Given the description of an element on the screen output the (x, y) to click on. 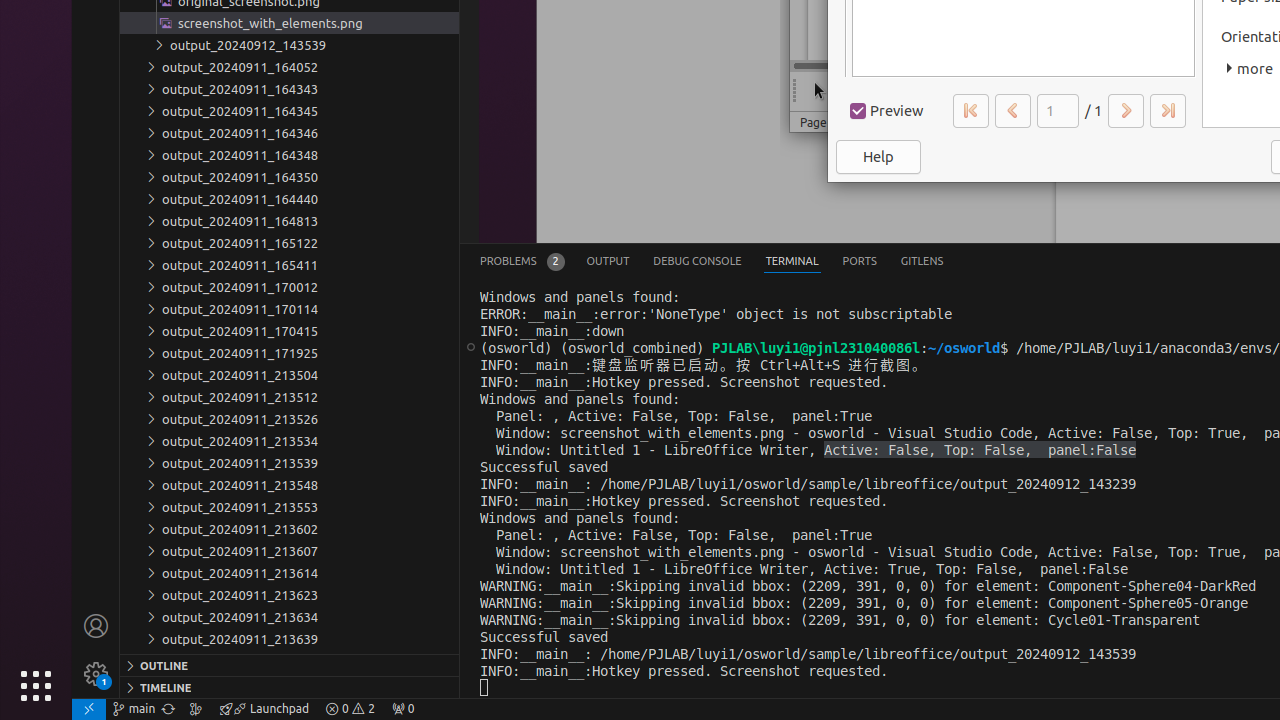
Show Applications Element type: toggle-button (36, 686)
